Given the description of an element on the screen output the (x, y) to click on. 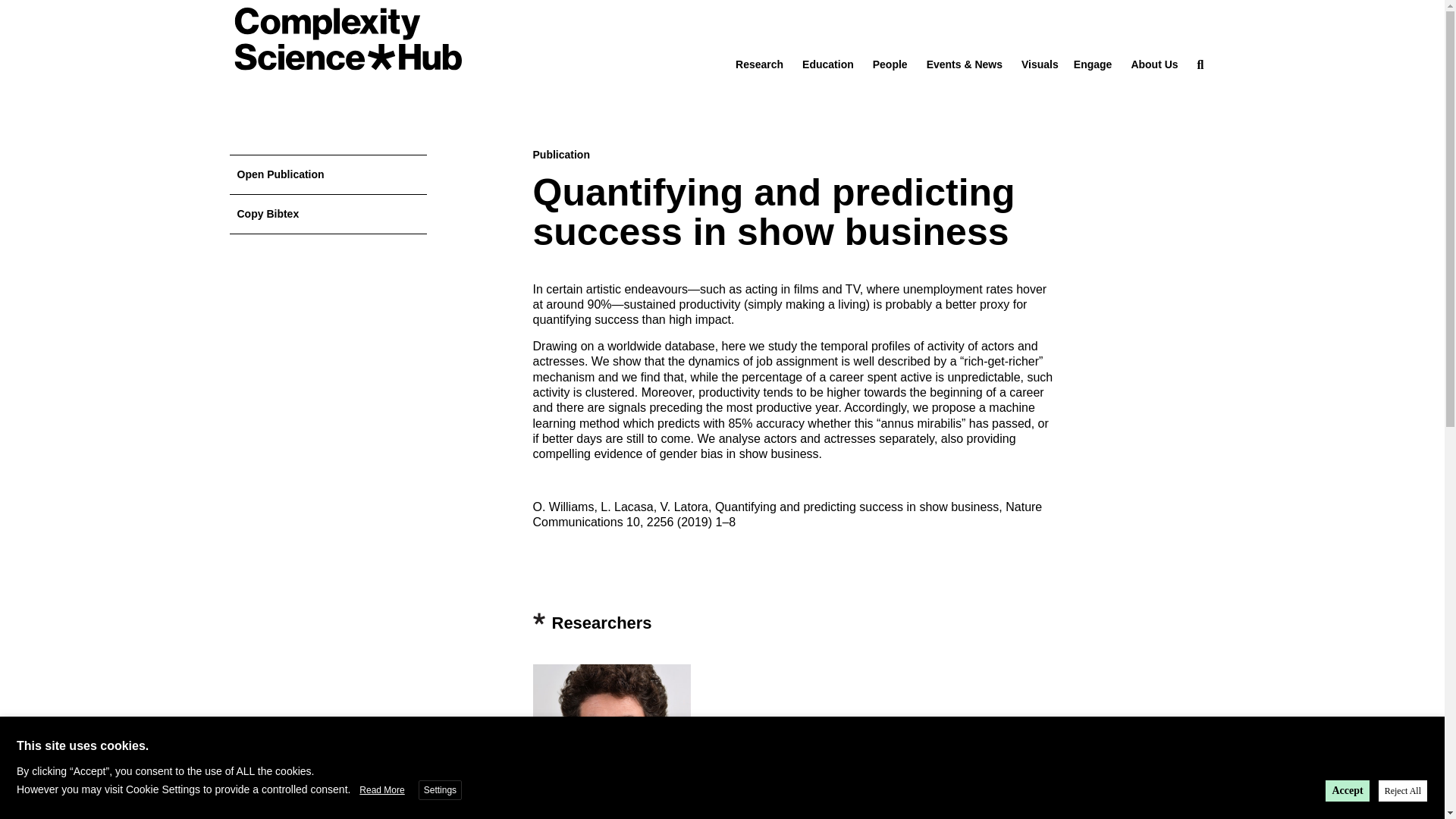
Vito-Latora-500x500-1.jpg (611, 741)
Close and Accept (1430, 729)
People (889, 64)
Education (827, 64)
Research (759, 64)
Engage (1093, 64)
About Us (1154, 64)
Visuals (1040, 64)
